Given the description of an element on the screen output the (x, y) to click on. 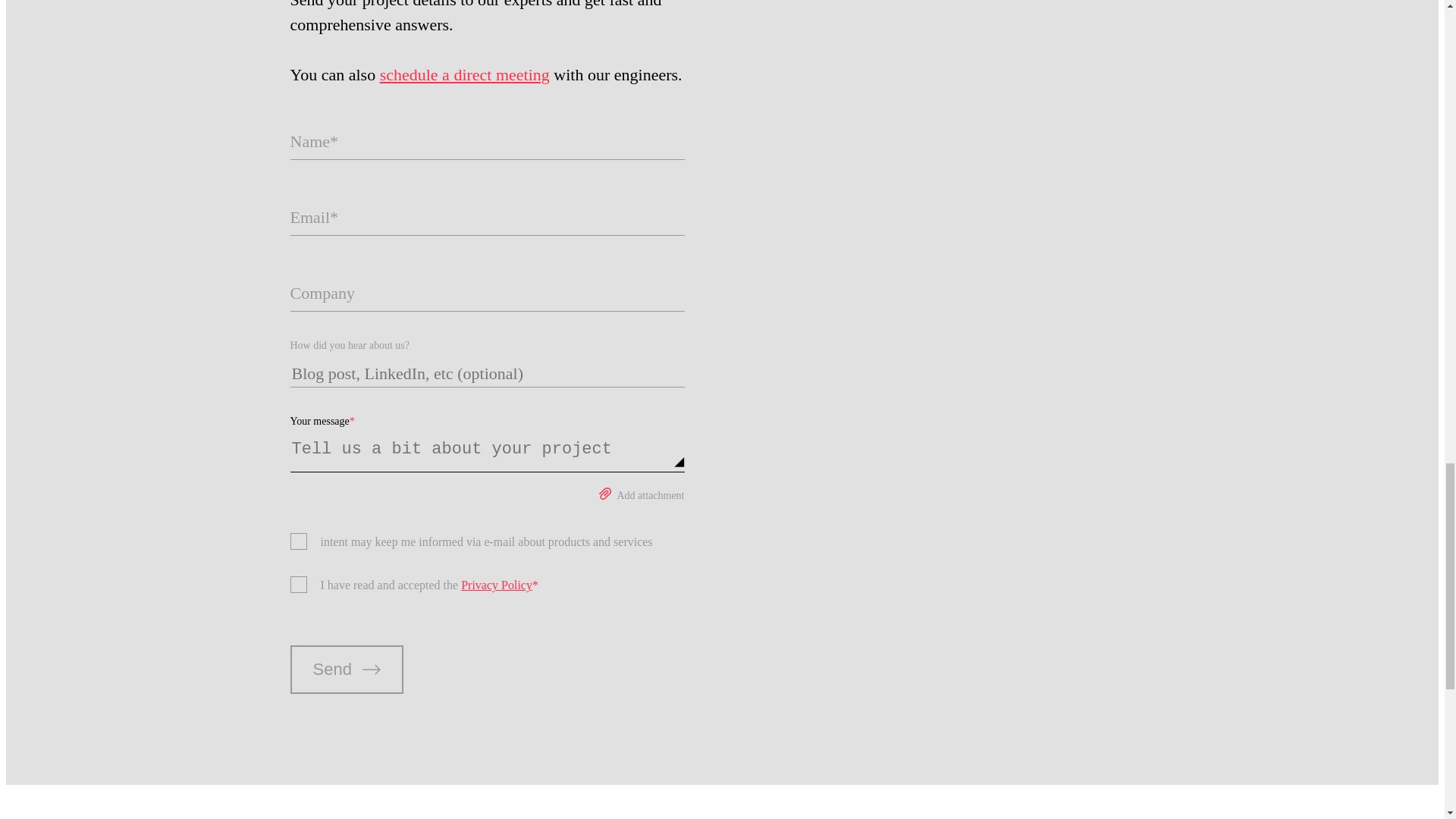
Send (346, 669)
schedule a direct meeting (465, 74)
Privacy Policy (496, 584)
